Given the description of an element on the screen output the (x, y) to click on. 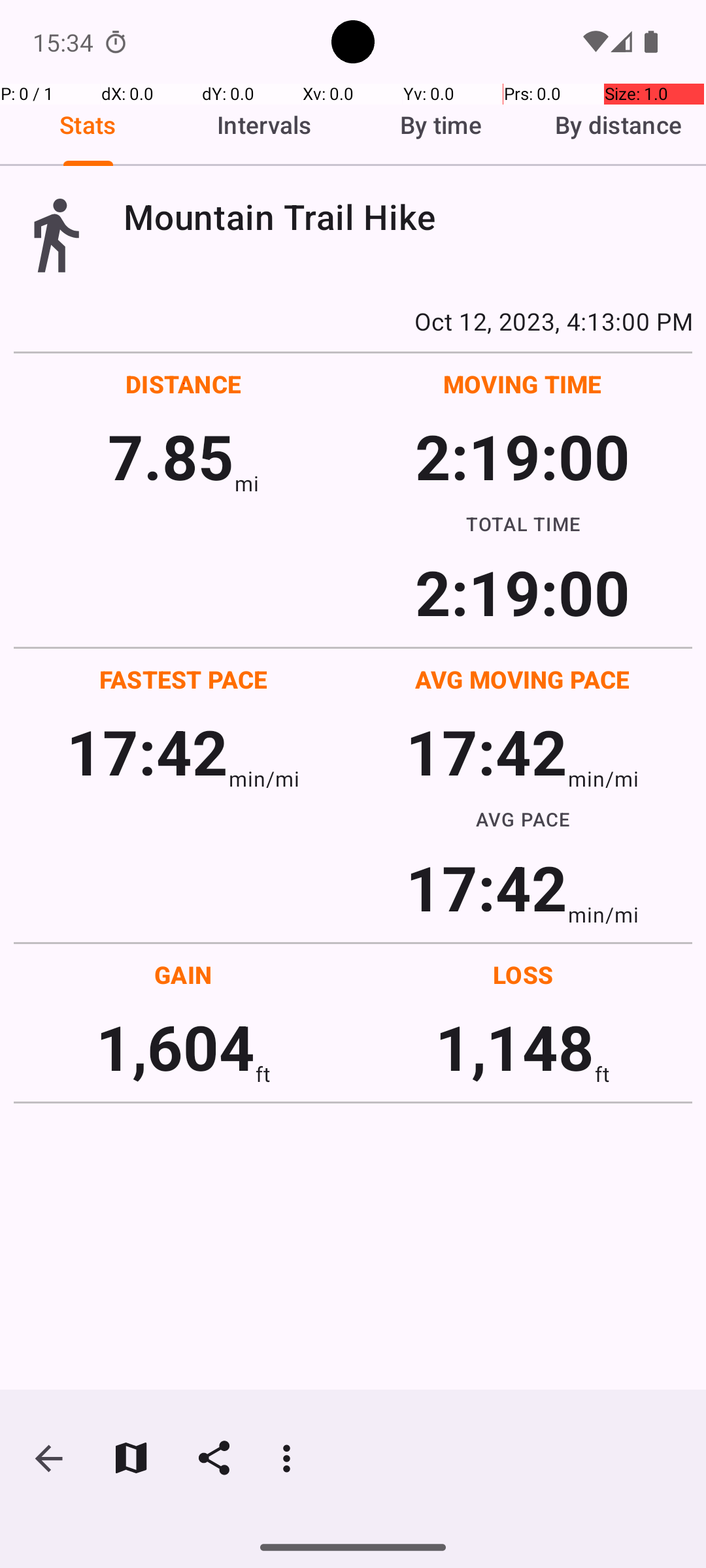
Mountain Trail Hike Element type: android.widget.TextView (407, 216)
Oct 12, 2023, 4:13:00 PM Element type: android.widget.TextView (352, 320)
7.85 Element type: android.widget.TextView (170, 455)
2:19:00 Element type: android.widget.TextView (522, 455)
17:42 Element type: android.widget.TextView (147, 750)
1,604 Element type: android.widget.TextView (175, 1045)
1,148 Element type: android.widget.TextView (514, 1045)
